Given the description of an element on the screen output the (x, y) to click on. 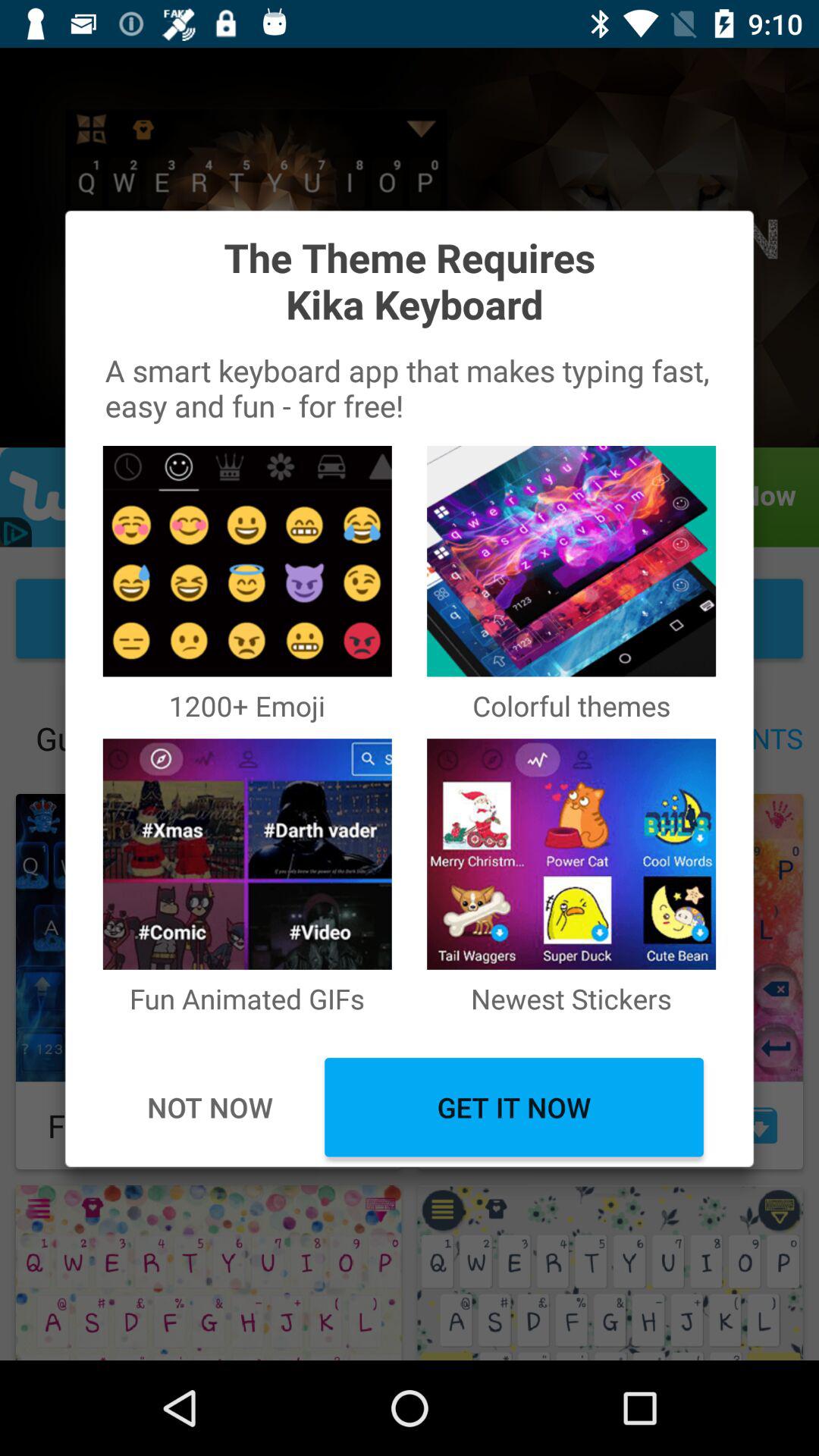
open get it now item (513, 1106)
